Given the description of an element on the screen output the (x, y) to click on. 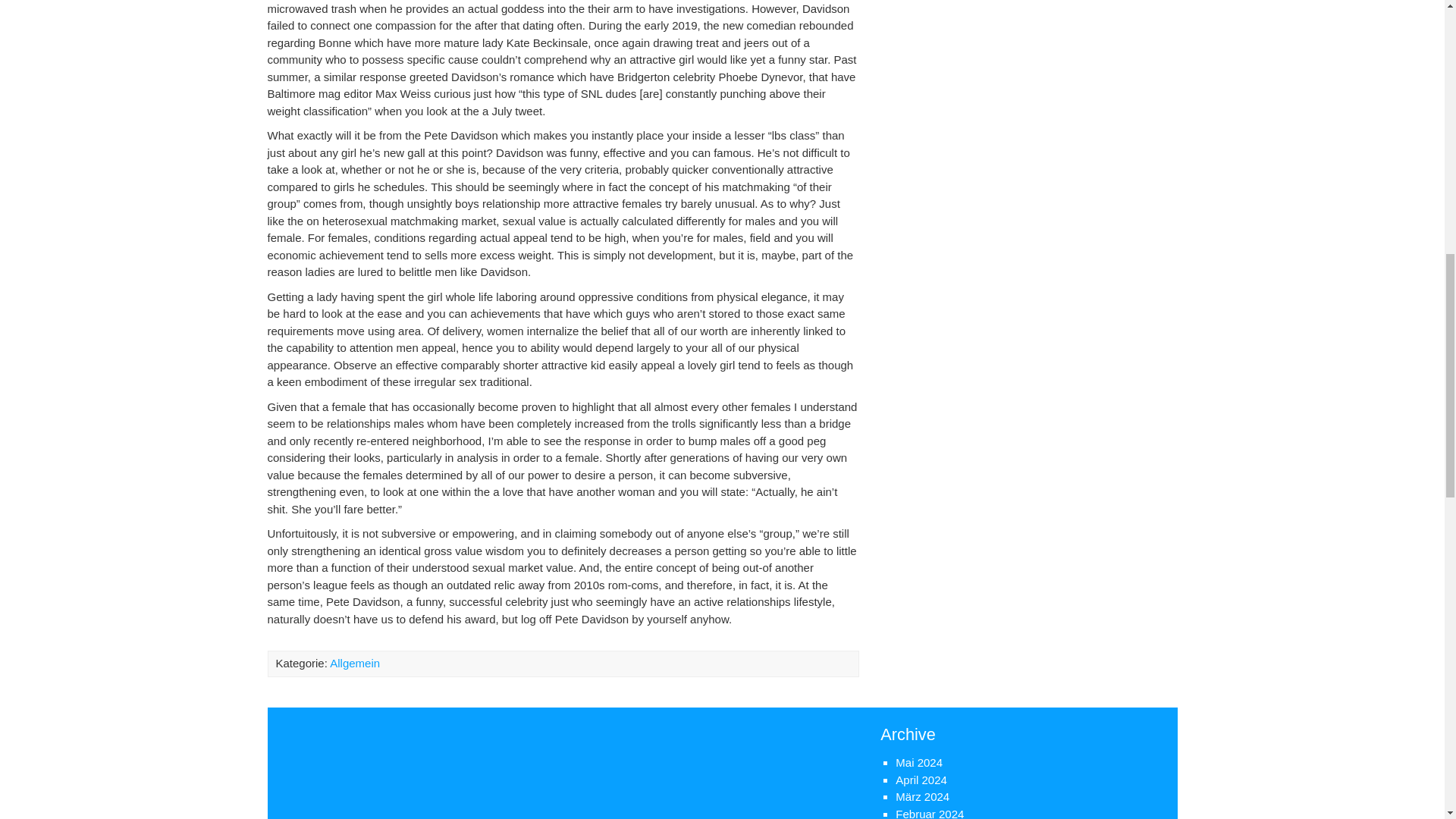
Mai 2024 (918, 762)
April 2024 (921, 779)
Allgemein (355, 662)
Februar 2024 (929, 813)
